Given the description of an element on the screen output the (x, y) to click on. 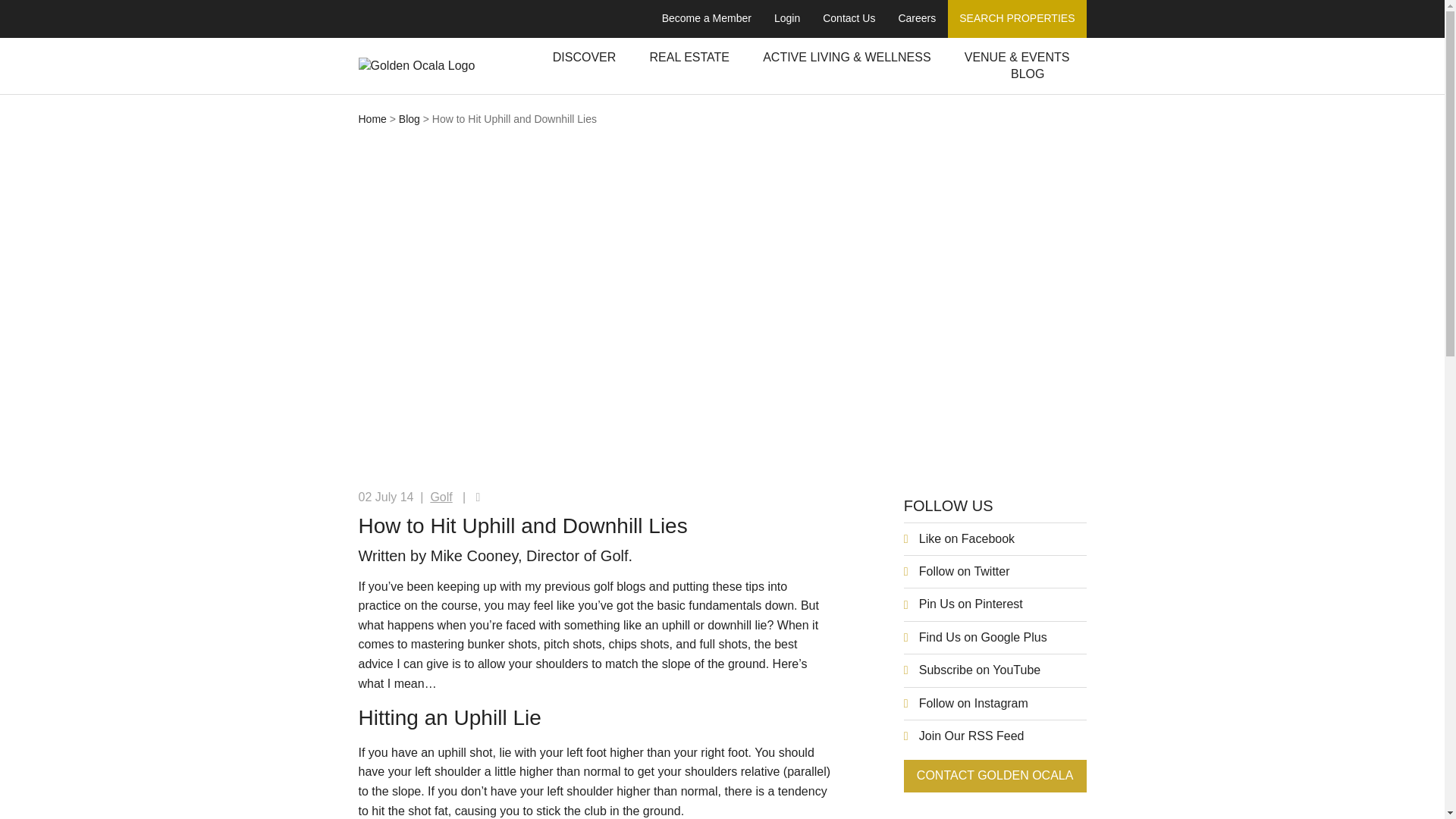
Contact Us (848, 18)
DISCOVER (584, 57)
Golf (440, 496)
REAL ESTATE (689, 57)
Login (786, 18)
Become a Member (706, 18)
Careers (916, 18)
SEARCH PROPERTIES (1016, 18)
